Given the description of an element on the screen output the (x, y) to click on. 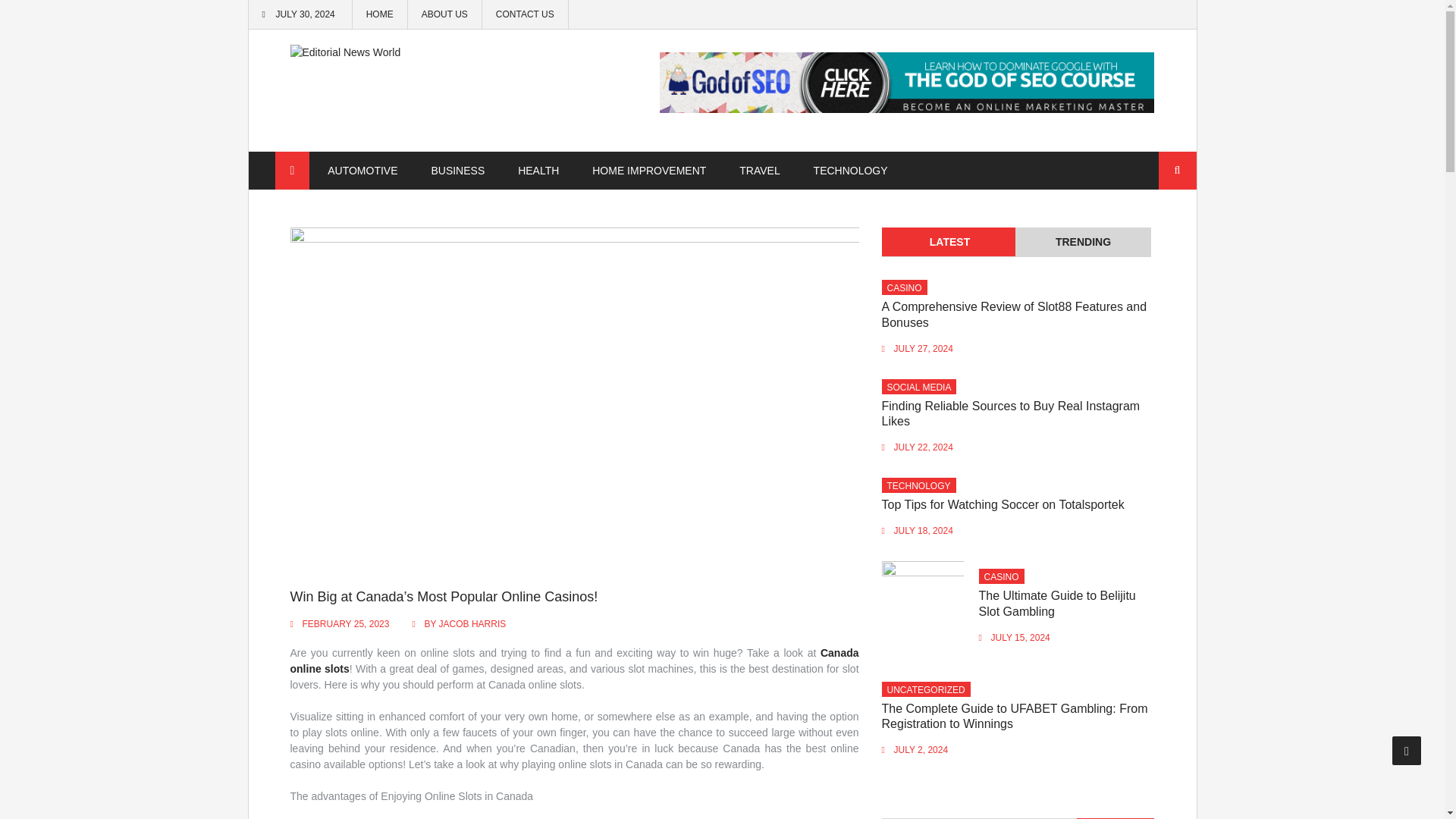
ABOUT US (444, 13)
Search (1177, 170)
Go to Top (1406, 750)
AUTOMOTIVE (362, 171)
Top Tips for Watching Soccer on Totalsportek (1003, 504)
Search (1177, 170)
JULY 15, 2024 (1020, 637)
BUSINESS (456, 171)
FEBRUARY 25, 2023 (344, 624)
UNCATEGORIZED (925, 689)
A Comprehensive Review of Slot88 Features and Bonuses (1014, 314)
JACOB HARRIS (472, 624)
JULY 27, 2024 (923, 348)
